Given the description of an element on the screen output the (x, y) to click on. 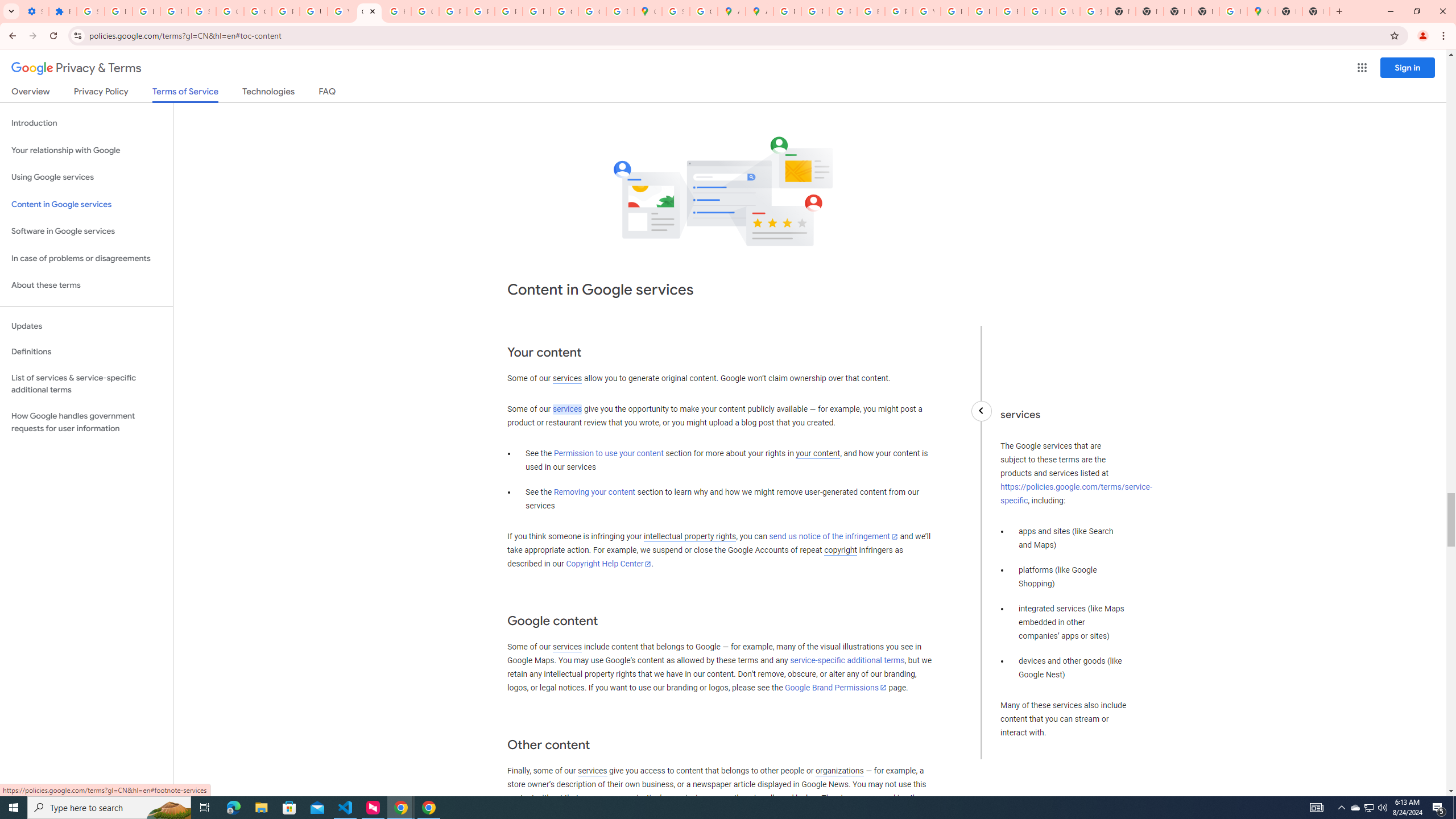
Privacy Help Center - Policies Help (842, 11)
Removing your content (593, 492)
Your relationship with Google (86, 150)
service-specific additional terms (847, 660)
About these terms (86, 284)
Delete photos & videos - Computer - Google Photos Help (118, 11)
Sign in - Google Accounts (202, 11)
https://scholar.google.com/ (397, 11)
Definitions (86, 352)
Browse Chrome as a guest - Computer - Google Chrome Help (1010, 11)
Google Maps (647, 11)
Create your Google Account (703, 11)
